Given the description of an element on the screen output the (x, y) to click on. 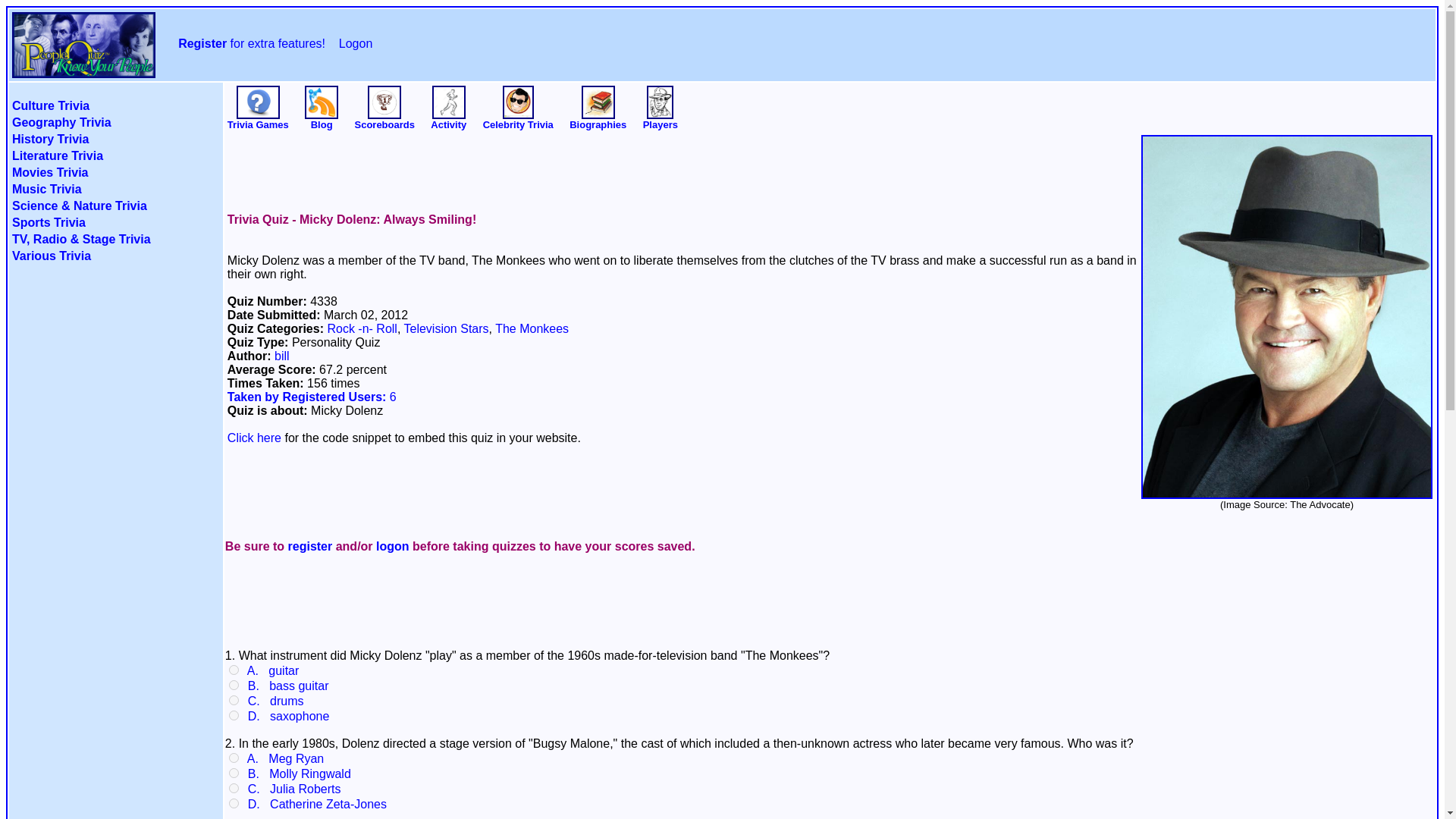
Taken by Registered Users: 6 (311, 396)
A (233, 669)
C (233, 787)
Literature Trivia (57, 155)
PeopleQuiz Home Page (83, 67)
Celebrity Biography Index by name and birthdate (597, 101)
C (233, 700)
D (233, 715)
Culture Trivia (49, 105)
Geography Trivia (61, 122)
